Given the description of an element on the screen output the (x, y) to click on. 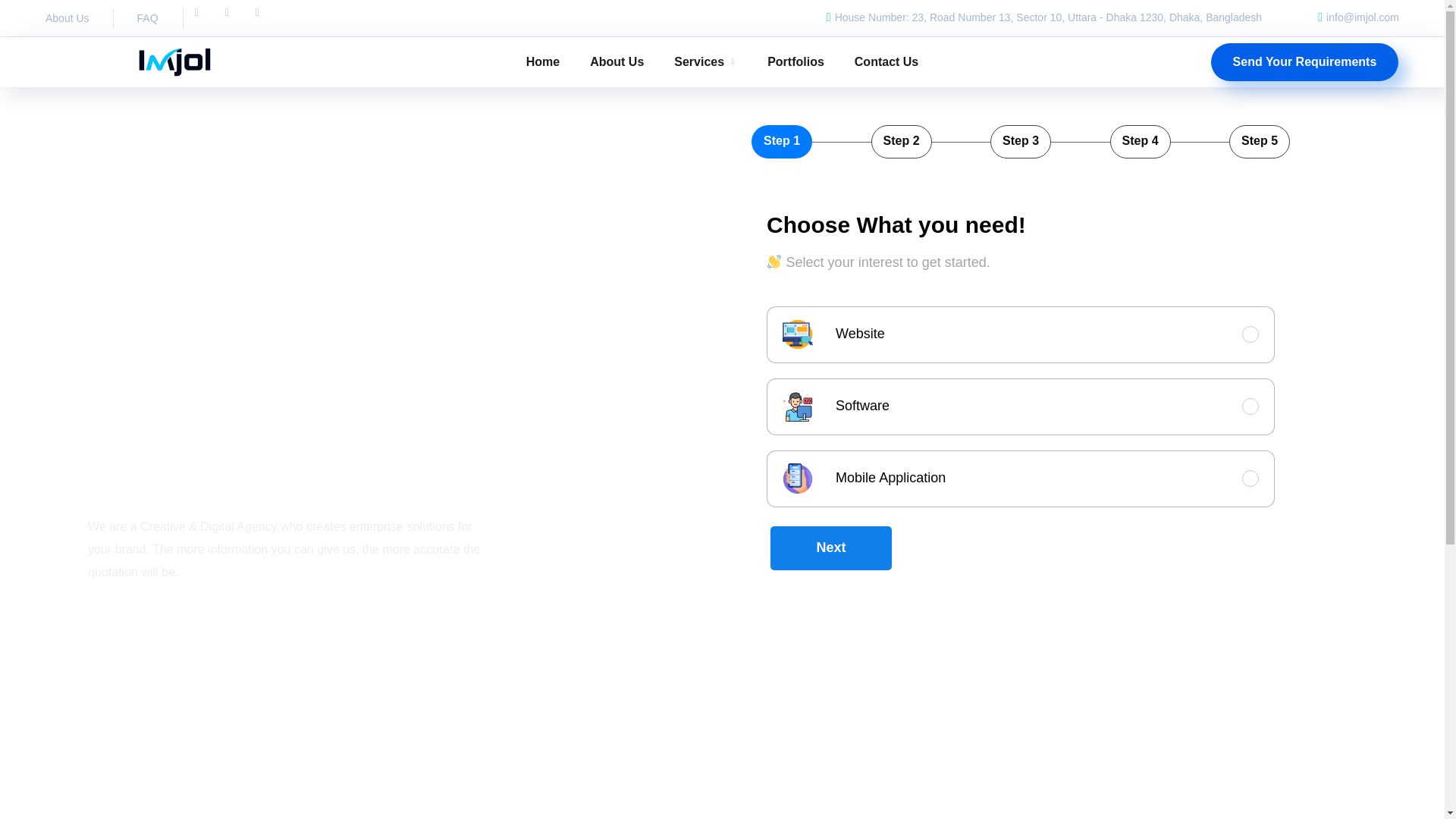
imjol (174, 61)
About Us (66, 17)
Services (705, 61)
Portfolios (795, 61)
About Us (616, 61)
Send Your Requirements (1305, 61)
FAQ (147, 17)
Contact Us (886, 61)
